Given the description of an element on the screen output the (x, y) to click on. 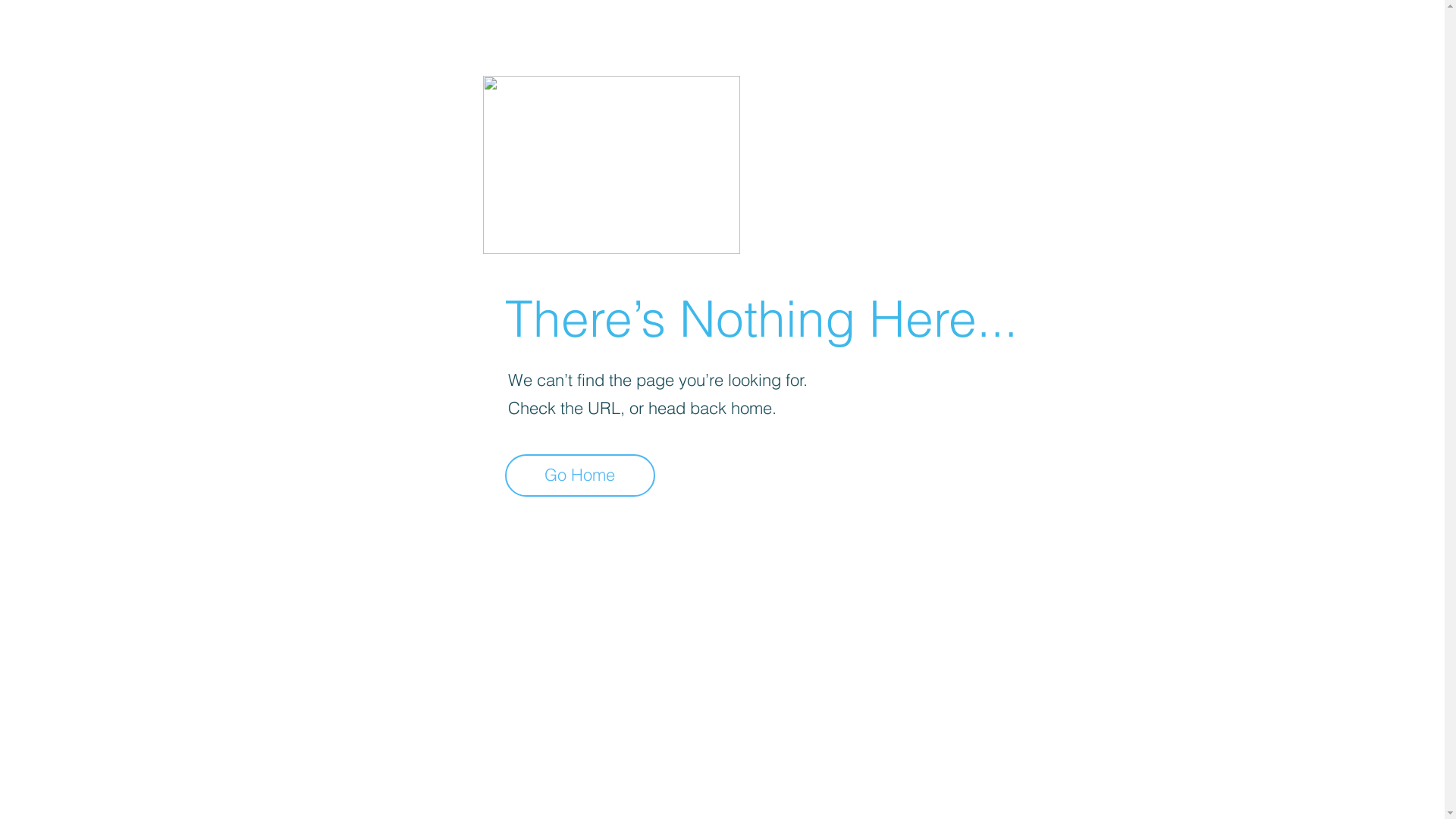
Go Home Element type: text (580, 475)
404-icon_2.png Element type: hover (610, 164)
